Given the description of an element on the screen output the (x, y) to click on. 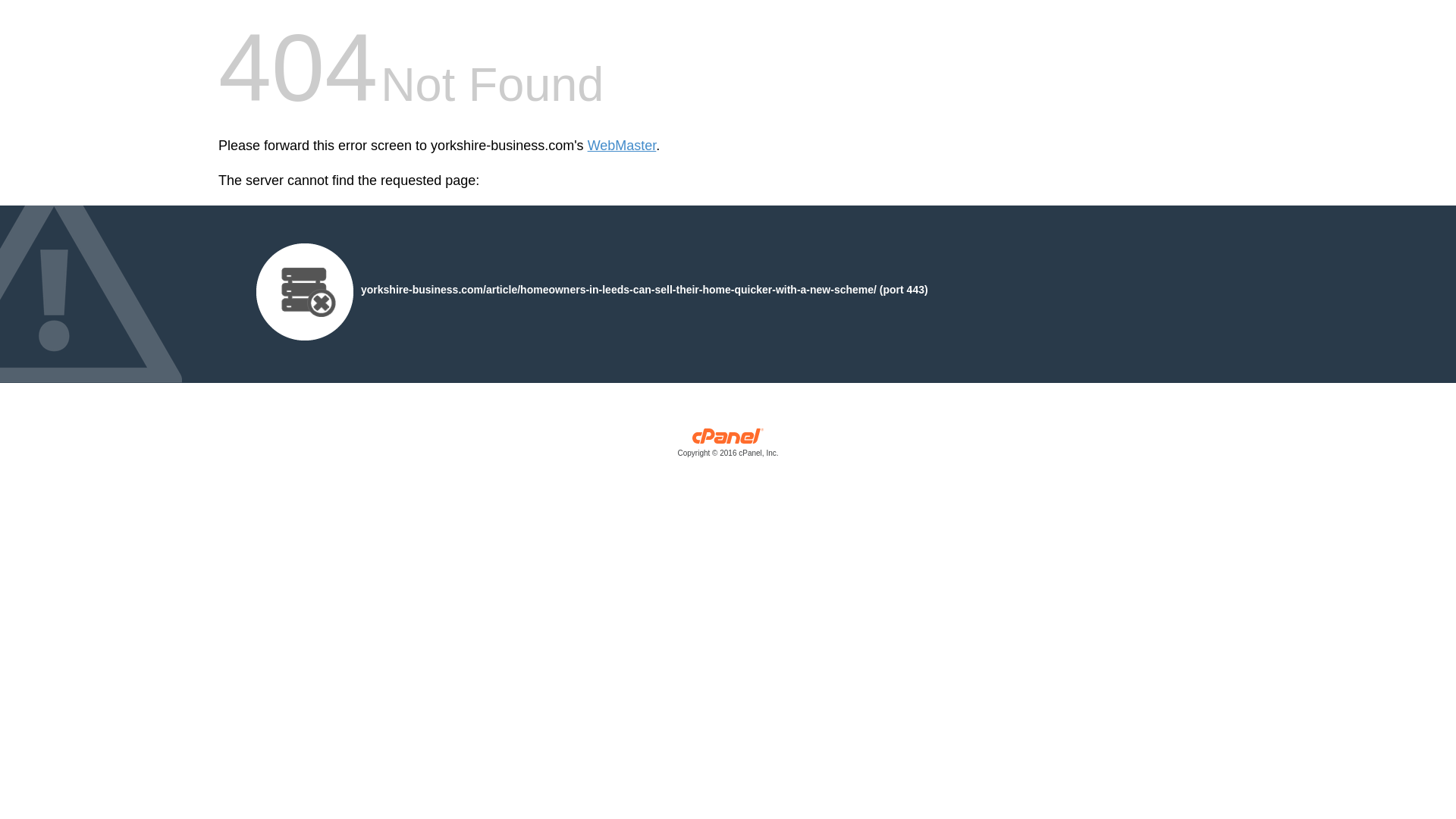
cPanel, Inc. (727, 446)
WebMaster (622, 145)
